Given the description of an element on the screen output the (x, y) to click on. 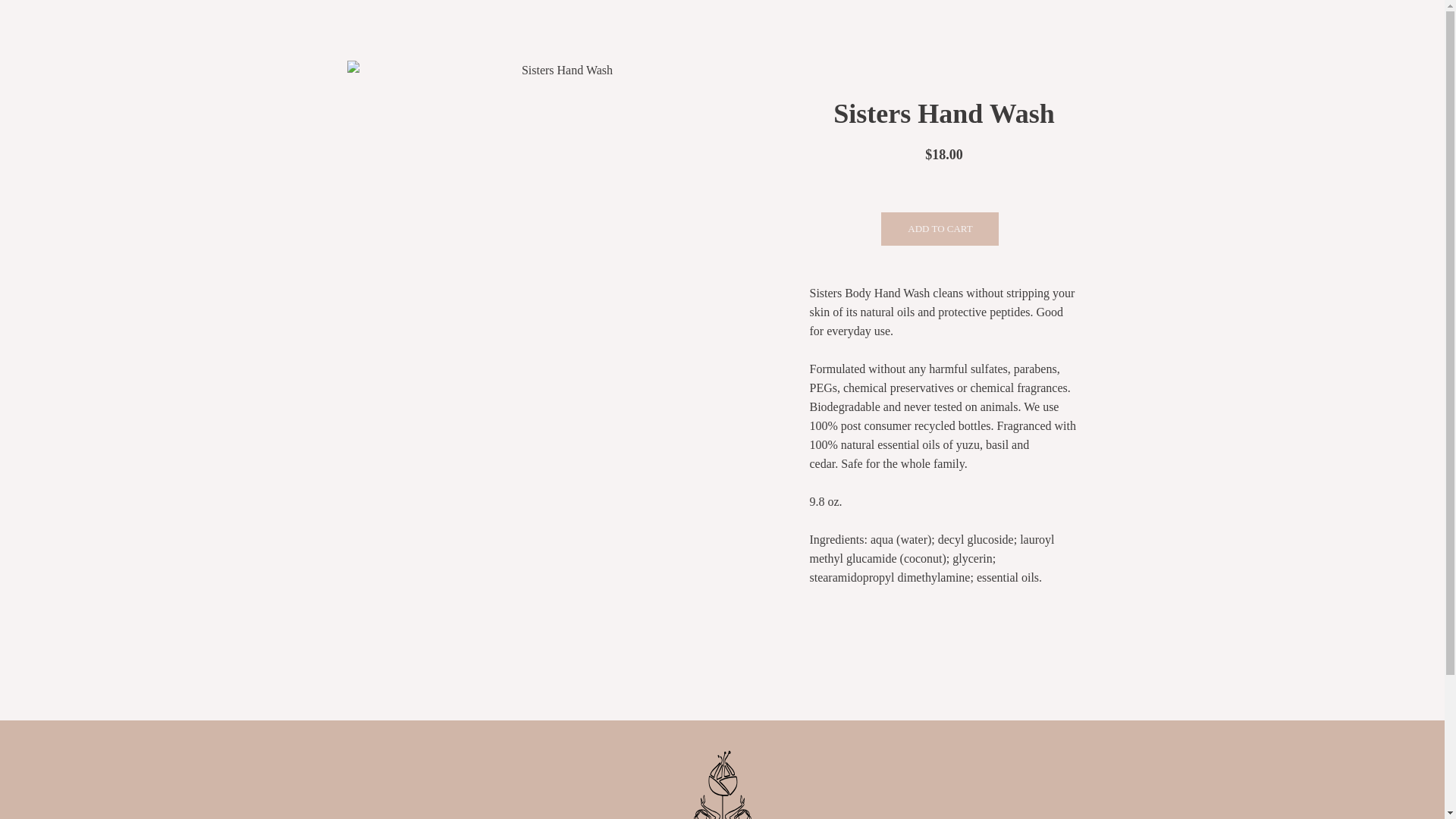
ADD TO CART (939, 228)
